Given the description of an element on the screen output the (x, y) to click on. 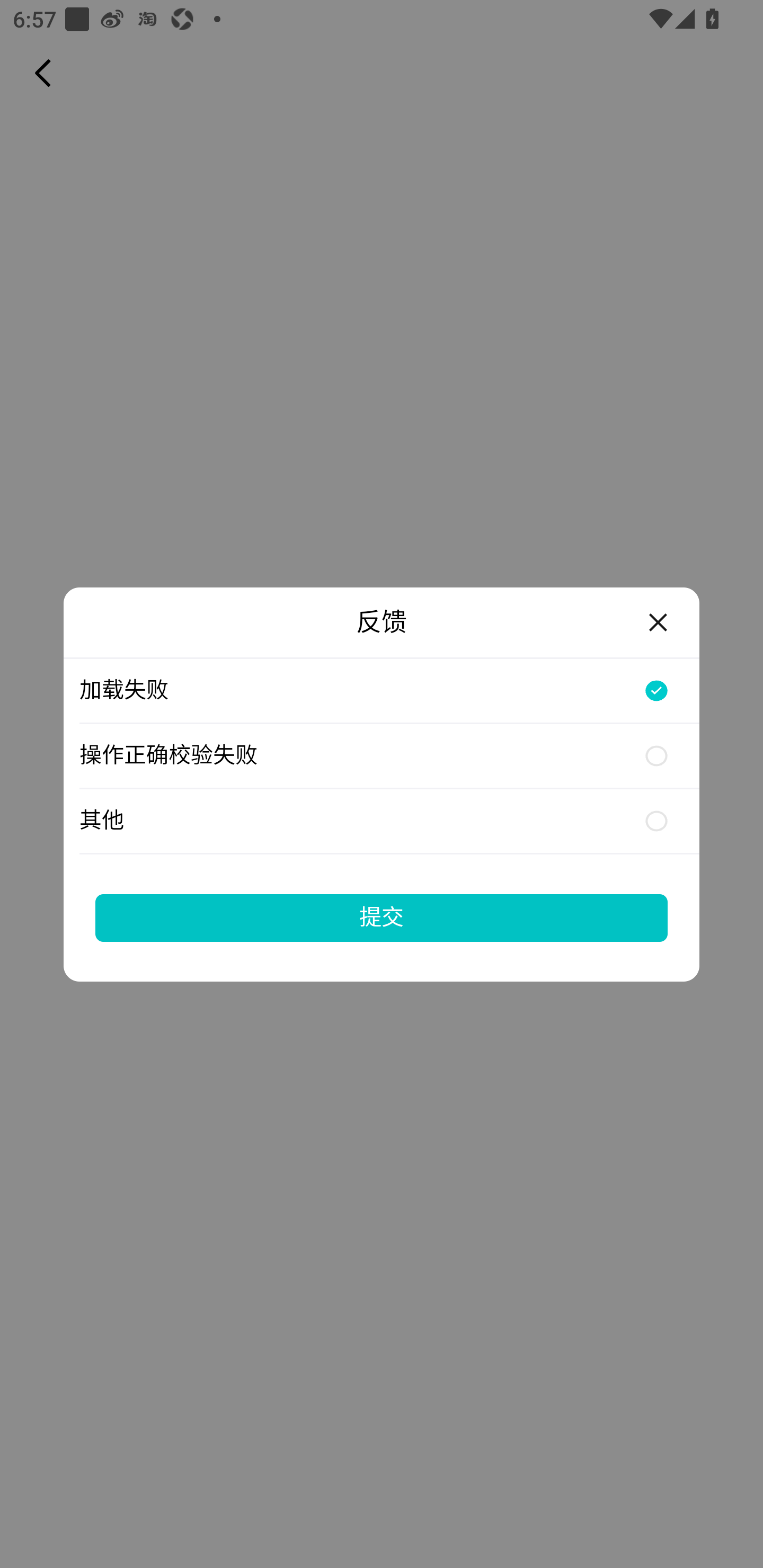
提交 (381, 917)
